Given the description of an element on the screen output the (x, y) to click on. 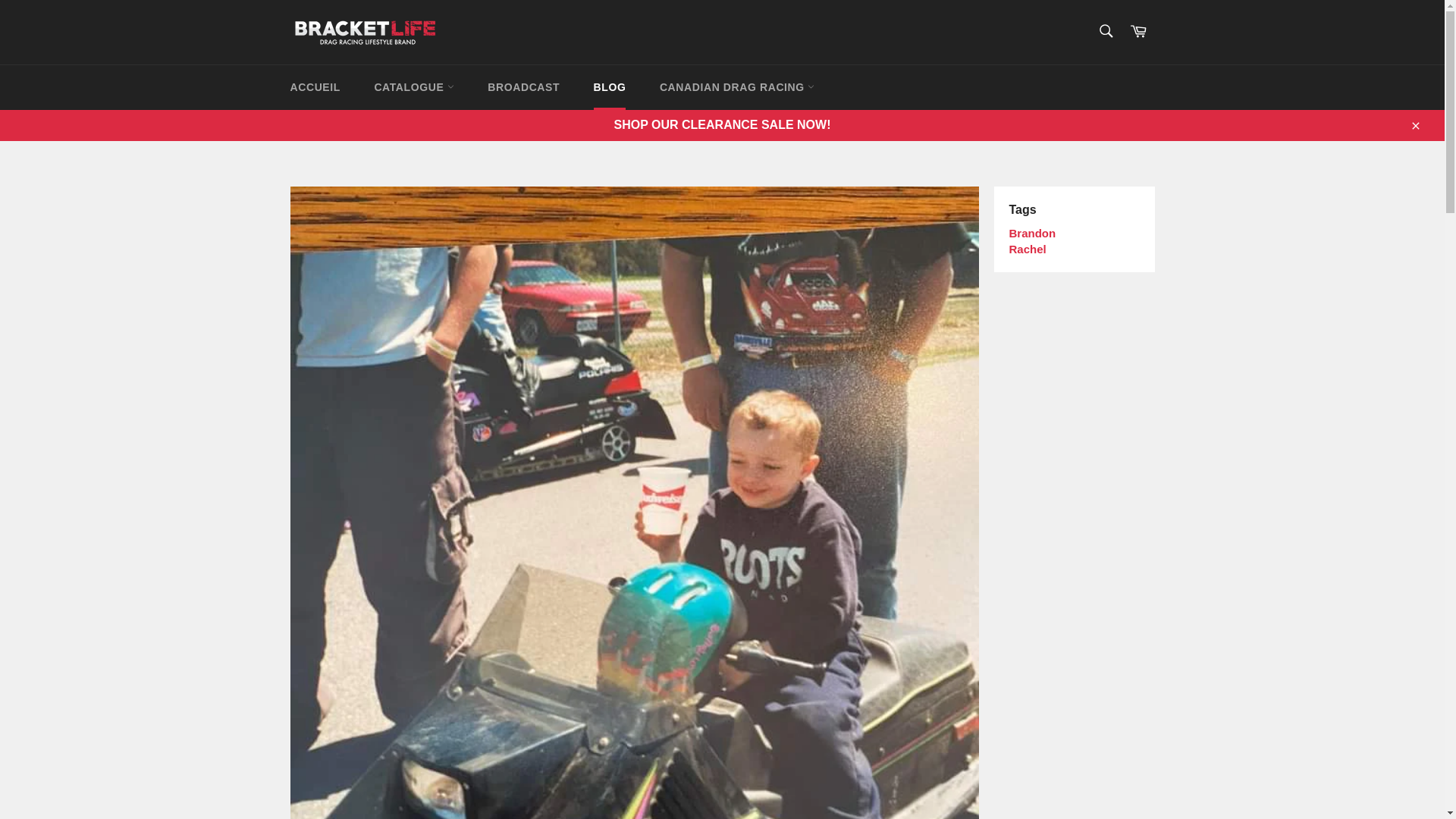
Show articles tagged Brandon (1032, 232)
Panier (1138, 32)
Show articles tagged Rachel (1027, 248)
BROADCAST (523, 87)
BLOG (610, 87)
ACCUEIL (315, 87)
Recherche (1104, 30)
CATALOGUE (413, 87)
